Given the description of an element on the screen output the (x, y) to click on. 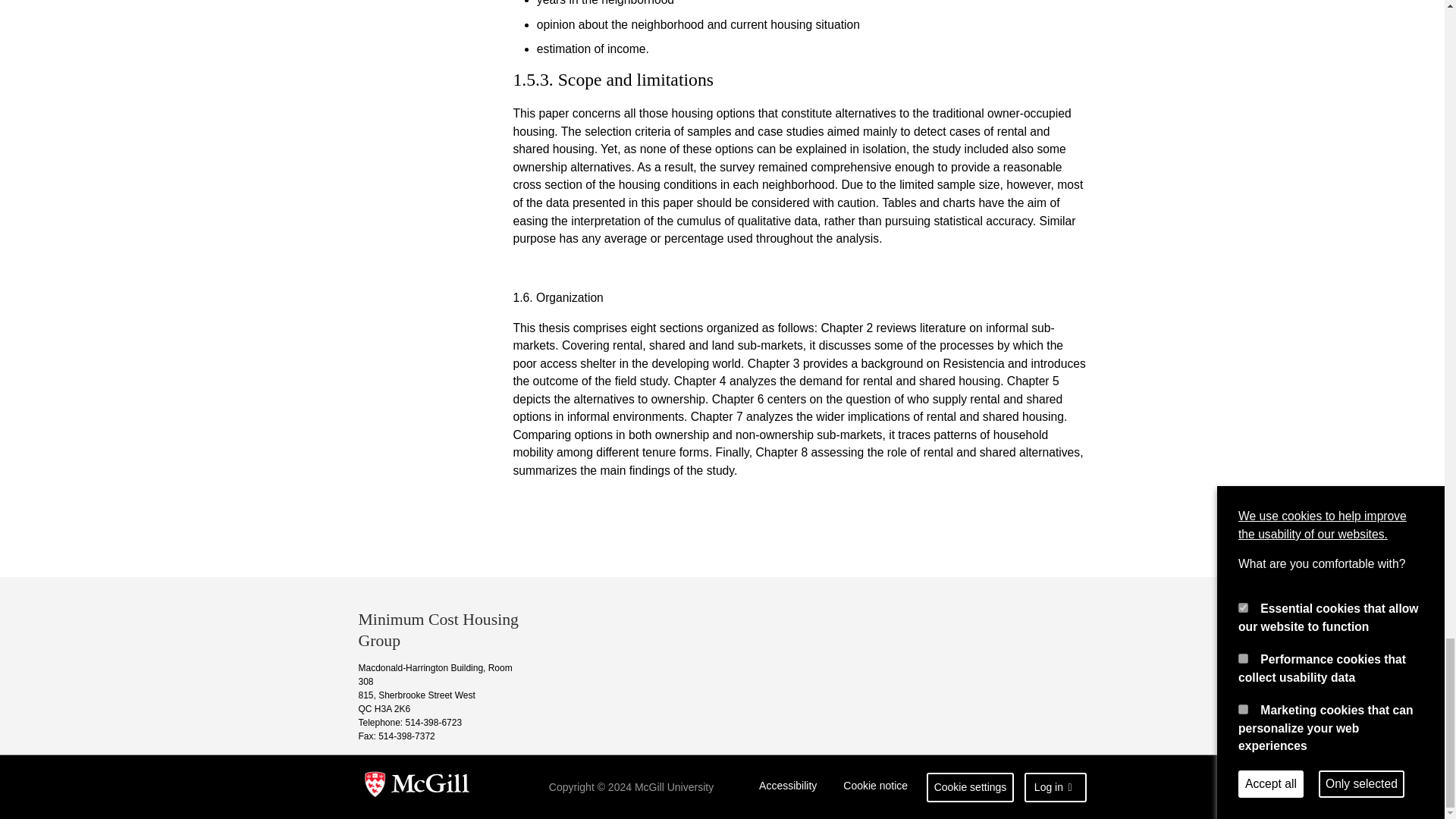
Accessibility (788, 787)
Cookie notice (875, 787)
return to McGill University (417, 786)
